Given the description of an element on the screen output the (x, y) to click on. 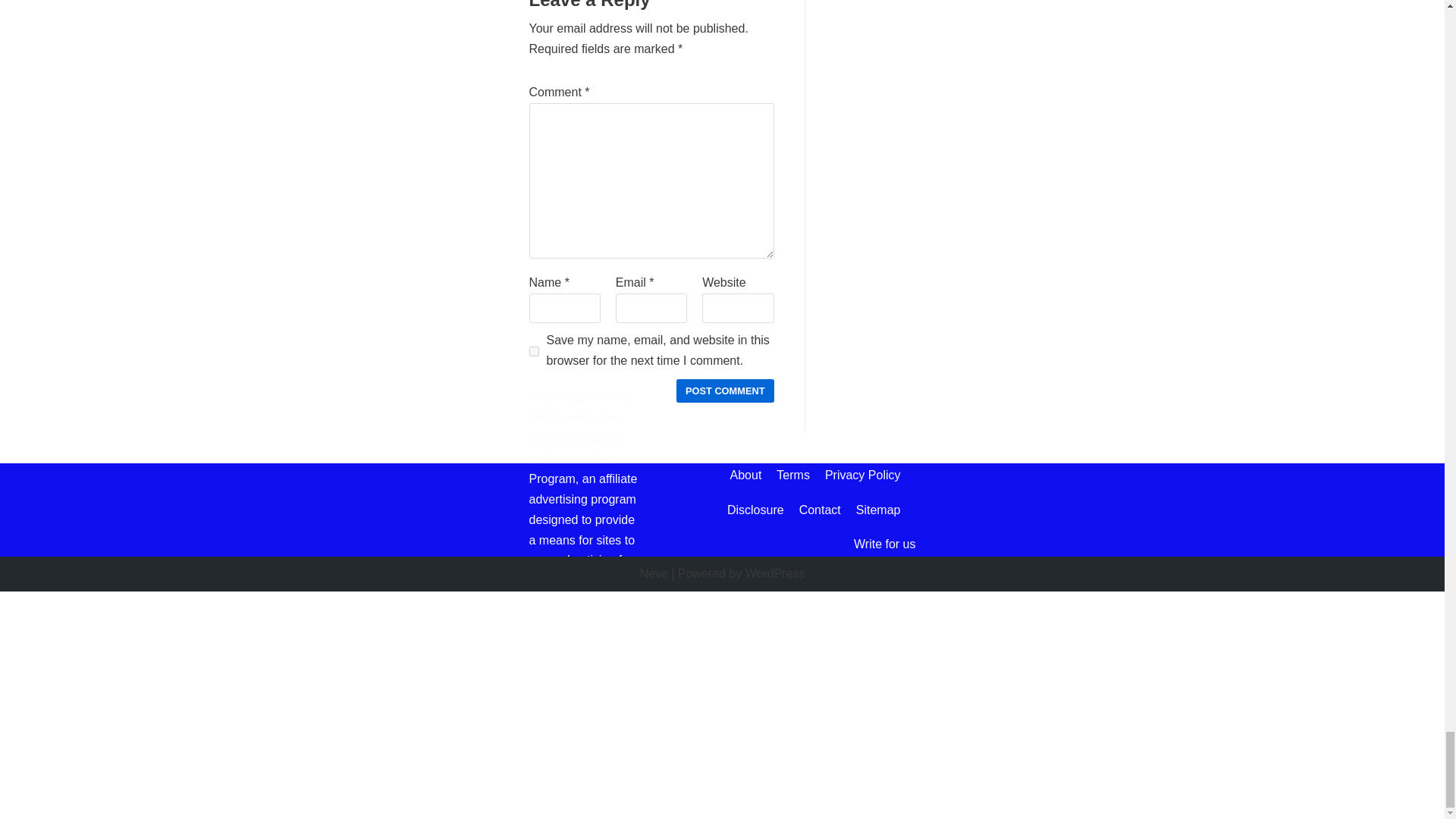
Terms (792, 475)
yes (533, 351)
Privacy Policy (863, 475)
Contact (820, 510)
Post Comment (725, 390)
About (745, 475)
Disclosure (755, 510)
Post Comment (725, 390)
